Given the description of an element on the screen output the (x, y) to click on. 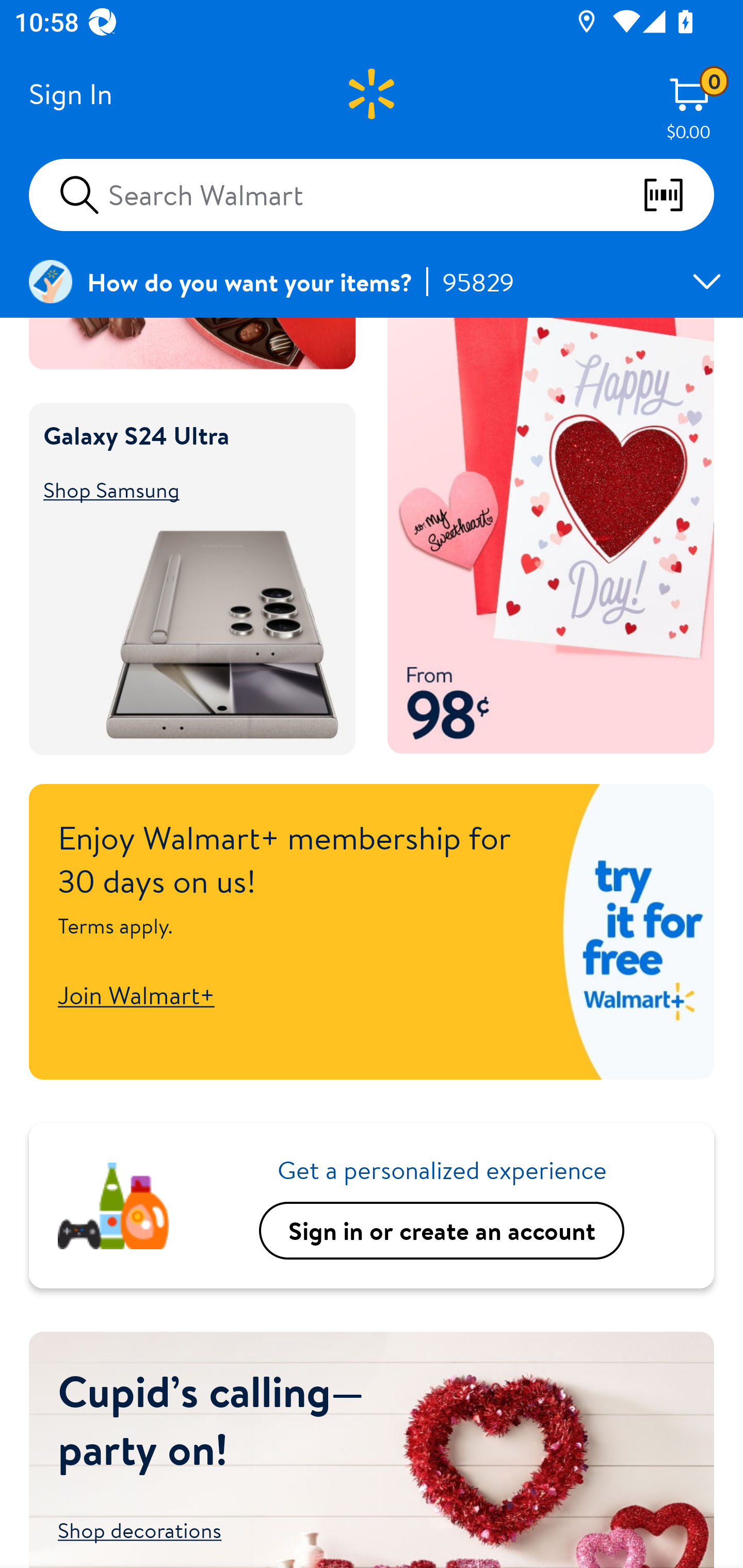
Sign In (70, 93)
Search Walmart scan barcodes qr codes and more (371, 194)
scan barcodes qr codes and more (677, 195)
Say it from the heart  Shop cards Shop cards (550, 536)
Shop Samsung Shop Samsung Galaxy S24 Ultra (183, 489)
Sign in or create an account (441, 1230)
